Given the description of an element on the screen output the (x, y) to click on. 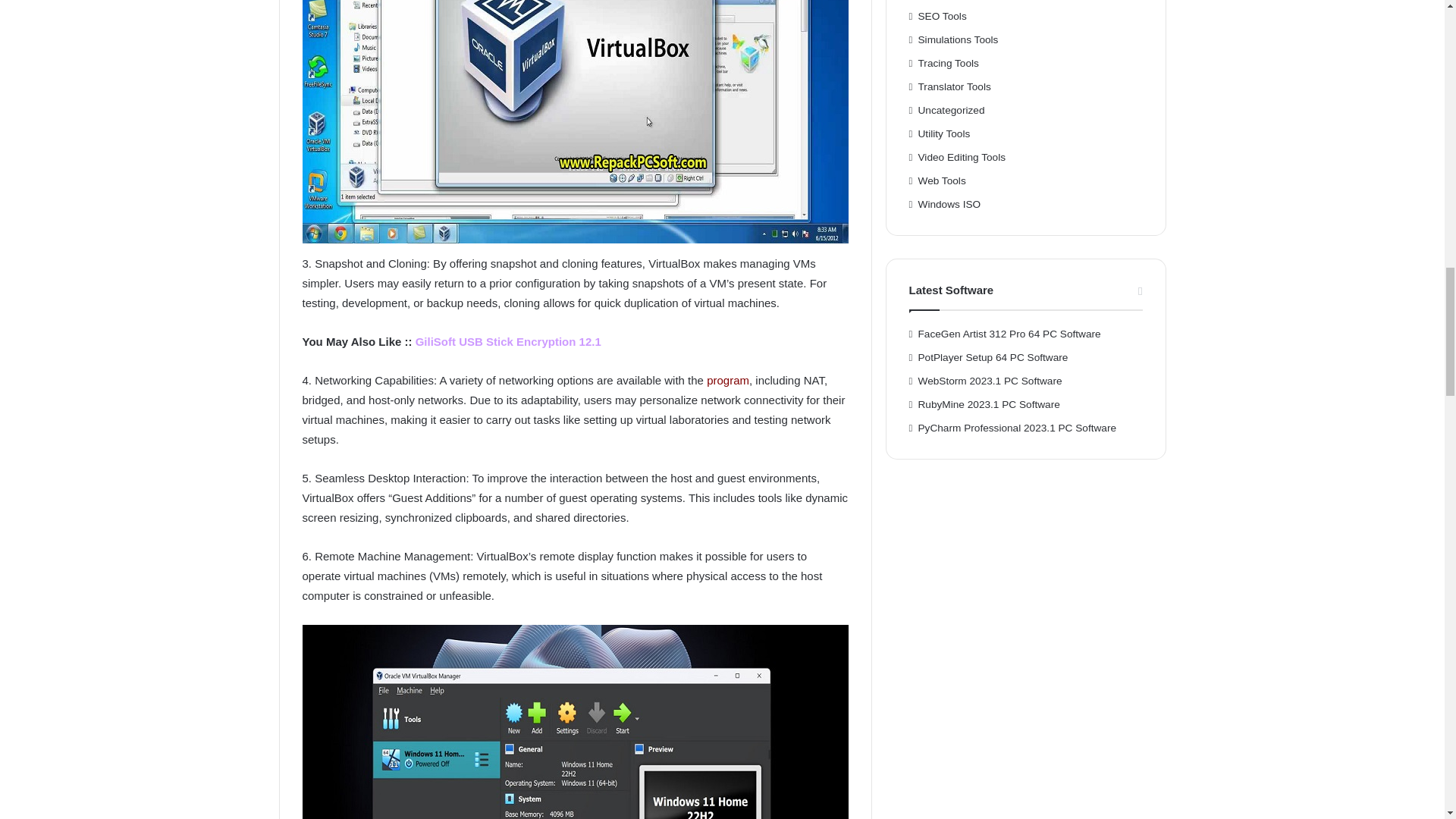
VirtualBox 7 PC Software With Crack (574, 121)
program (727, 379)
VirtualBox 7 PC Software With Patch (574, 721)
GiliSoft USB Stick Encryption 12.1 (507, 341)
